Given the description of an element on the screen output the (x, y) to click on. 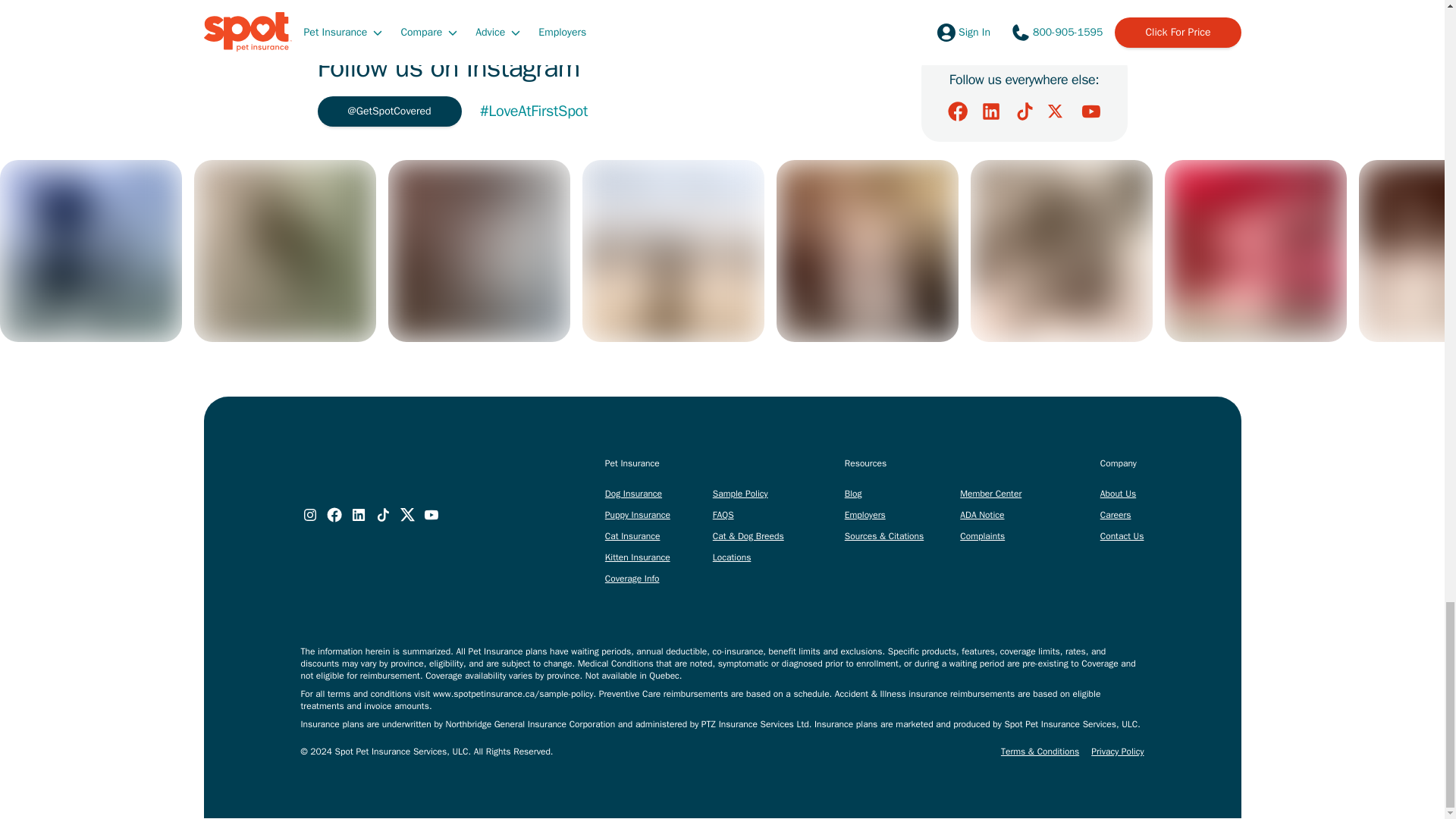
Spot on YouTube (1090, 111)
Spot on Facebook (956, 111)
Spot on TikTok (1023, 111)
Spot on LinkedIn (990, 111)
Spot on X (1056, 111)
